Given the description of an element on the screen output the (x, y) to click on. 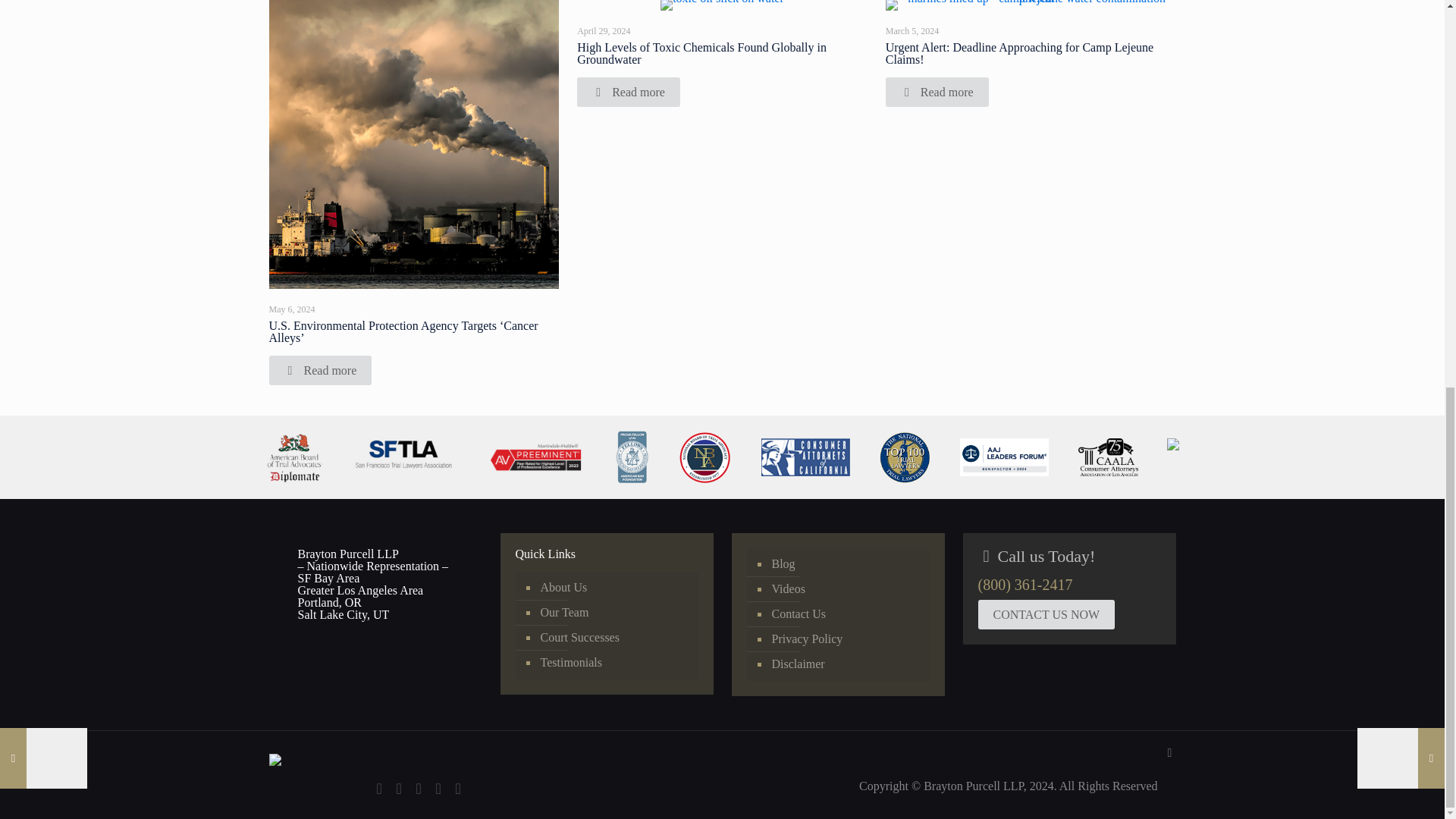
Facebook (379, 789)
Instagram (437, 789)
LinkedIn (398, 789)
Pinterest (418, 789)
